Given the description of an element on the screen output the (x, y) to click on. 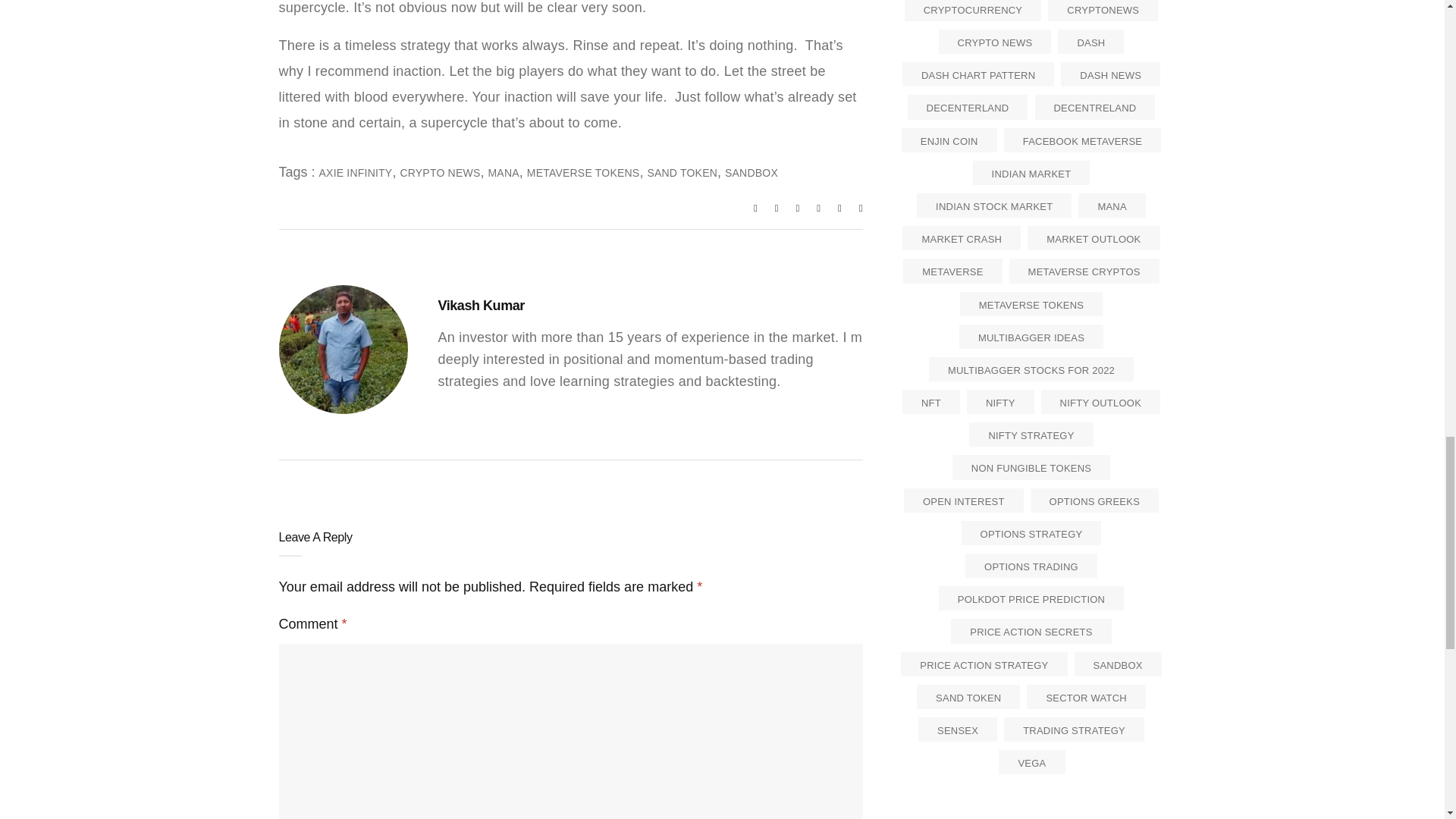
CRYPTO NEWS (439, 172)
METAVERSE TOKENS (583, 172)
AXIE INFINITY (355, 172)
SAND TOKEN (681, 172)
MANA (502, 172)
SANDBOX (751, 172)
